Given the description of an element on the screen output the (x, y) to click on. 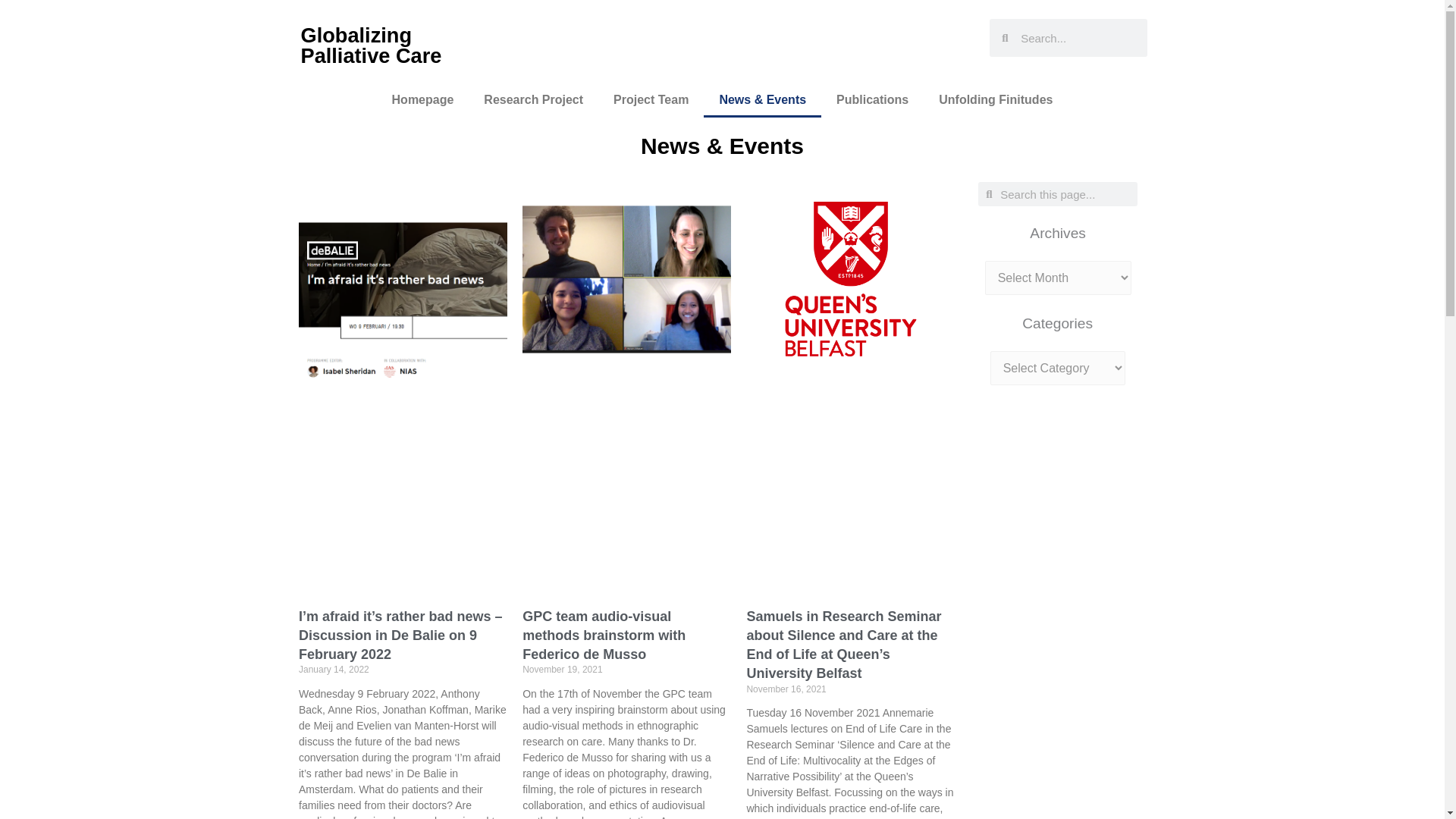
Publications (872, 99)
Research Project (533, 99)
Unfolding Finitudes (995, 99)
Homepage (422, 99)
Globalizing Palliative Care (370, 45)
Project Team (650, 99)
